Given the description of an element on the screen output the (x, y) to click on. 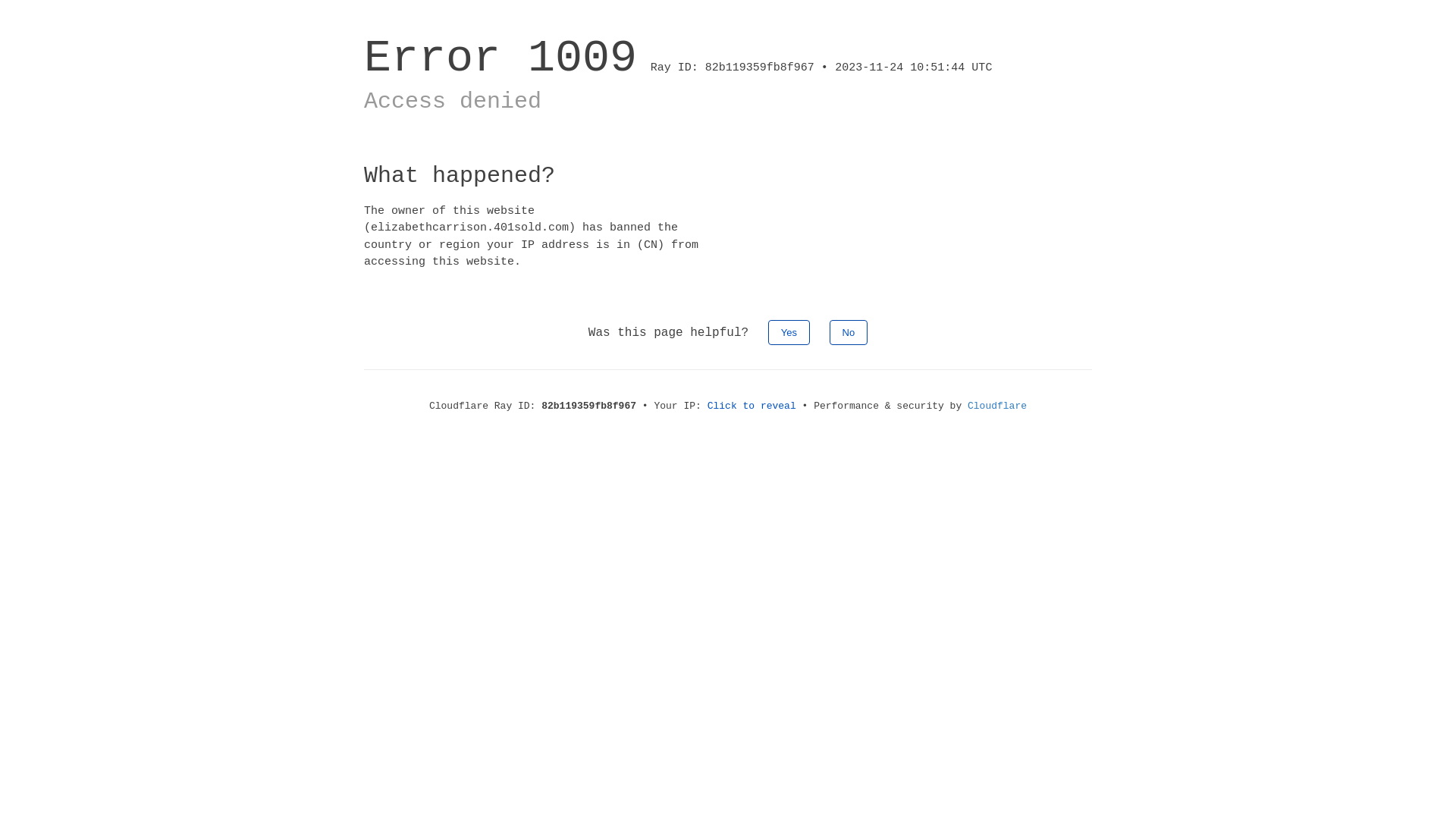
Cloudflare Element type: text (996, 405)
Click to reveal Element type: text (751, 405)
Yes Element type: text (788, 332)
No Element type: text (848, 332)
